Given the description of an element on the screen output the (x, y) to click on. 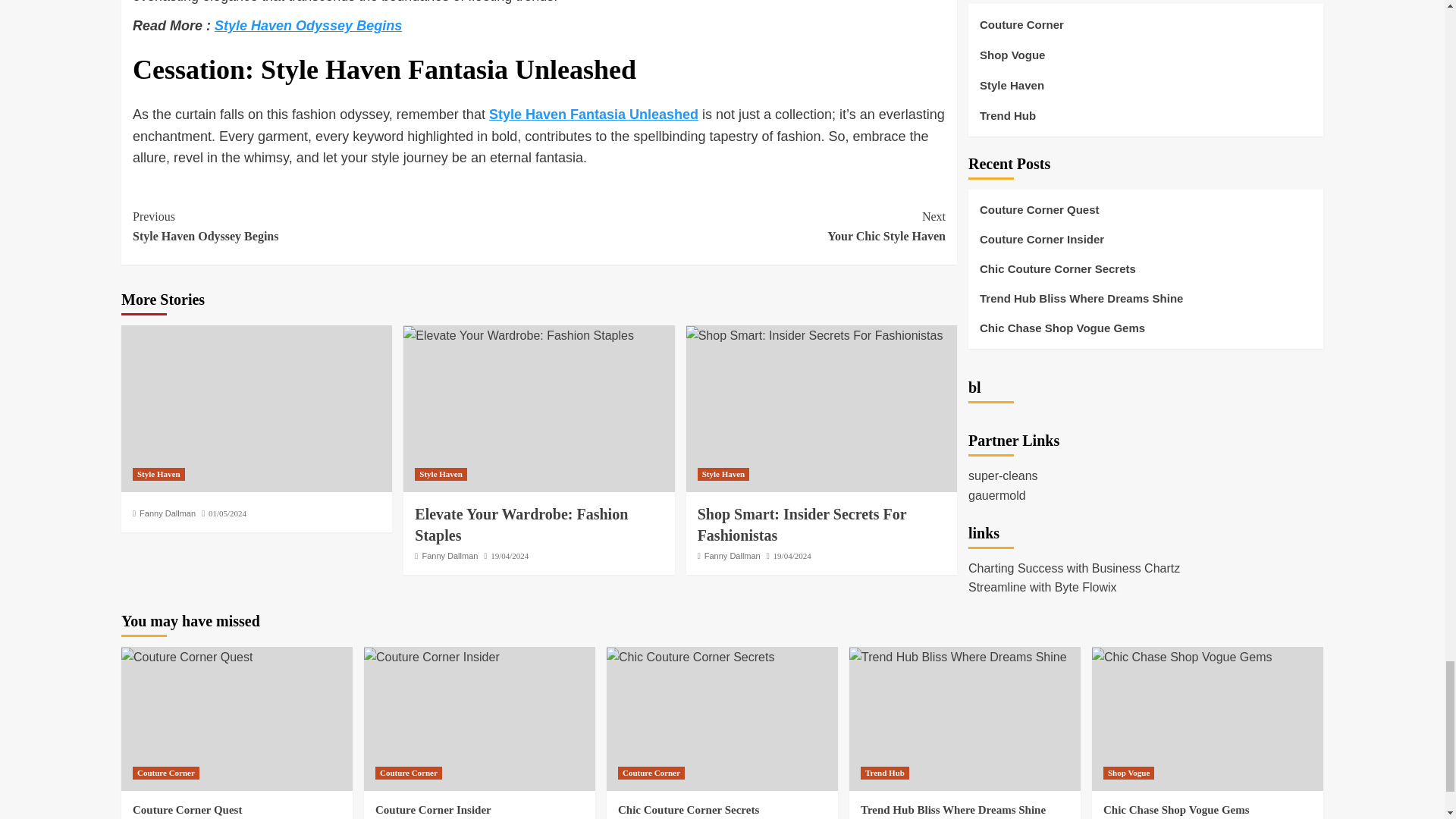
Style Haven Odyssey Begins (307, 25)
Style Haven Fantasia Unleashed (593, 114)
